Given the description of an element on the screen output the (x, y) to click on. 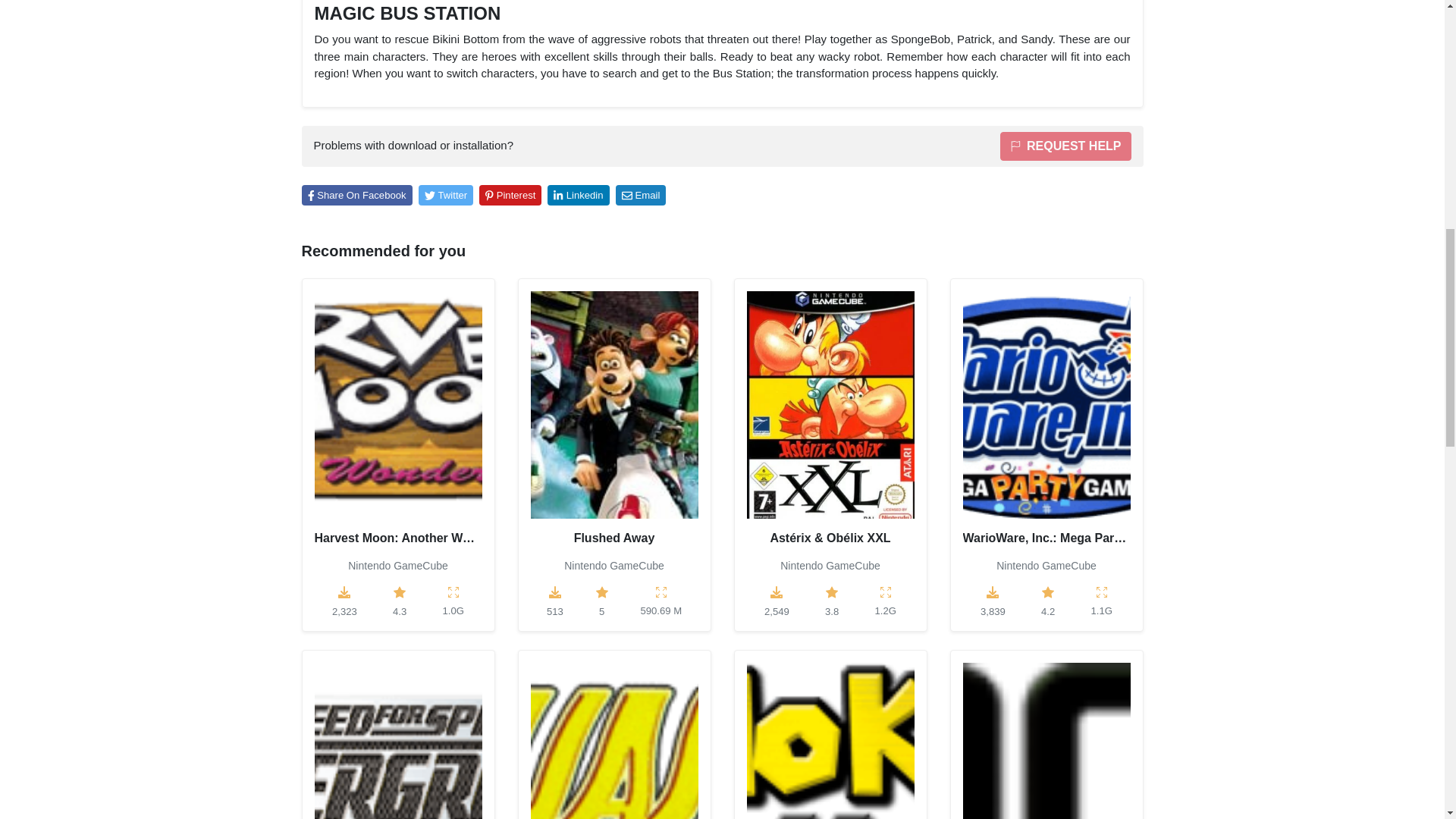
Pinterest (510, 195)
Share On Facebook (356, 195)
Aquaman: Battle for Atlantis (614, 740)
REQUEST HELP (1065, 145)
Nintendo GameCube (397, 565)
Nintendo GameCube (613, 565)
Nintendo GameCube (1045, 565)
Nintendo GameCube (830, 565)
Twitter (446, 195)
Mario Kart: Double Dash!! (829, 740)
Need for Speed: Underground (397, 740)
Linkedin (577, 195)
Email (640, 195)
